Given the description of an element on the screen output the (x, y) to click on. 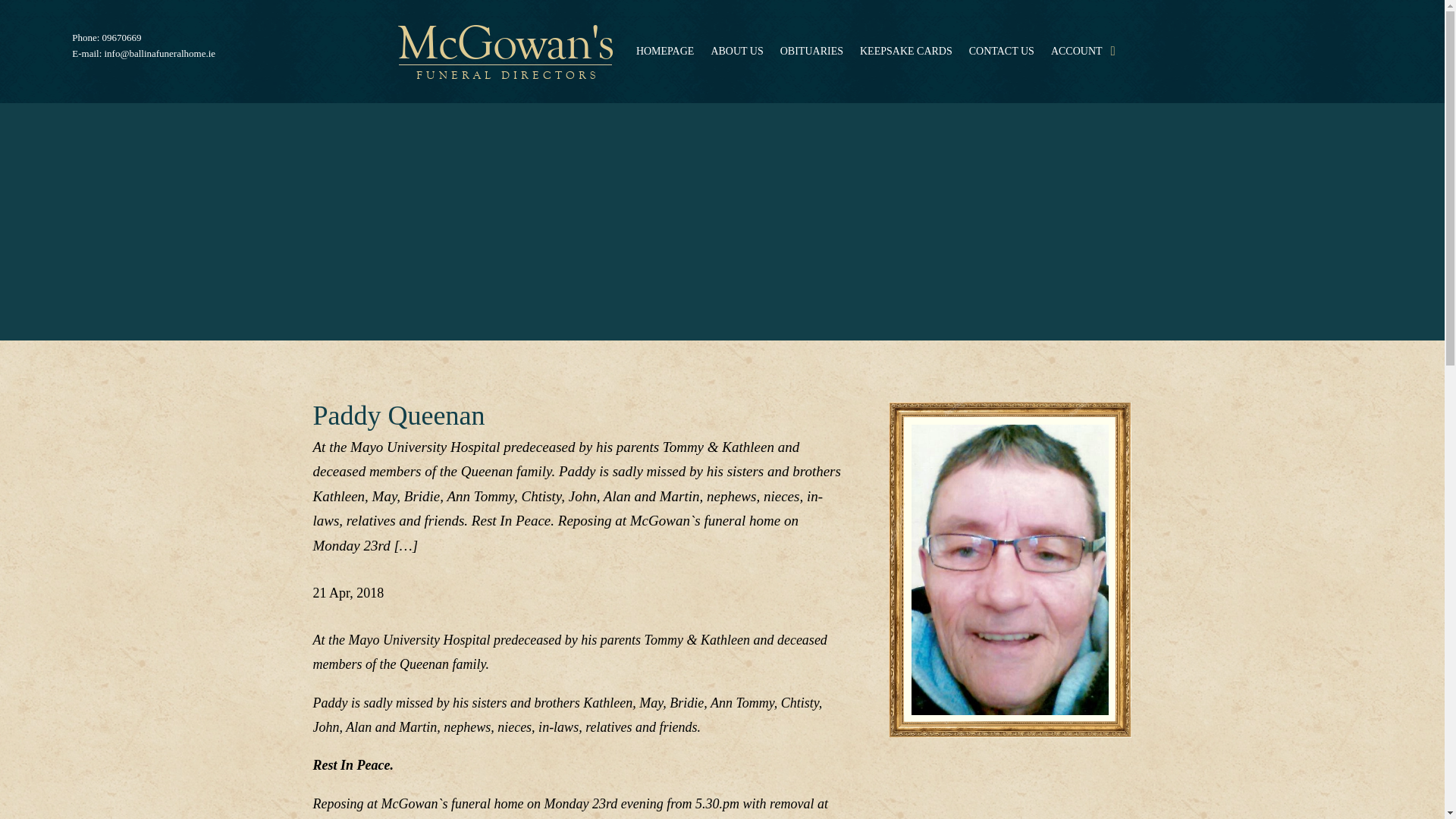
ABOUT US (736, 51)
HOMEPAGE (665, 51)
OBITUARIES (811, 51)
CONTACT US (1001, 51)
ACCOUNT (1076, 51)
KEEPSAKE CARDS (906, 51)
